Given the description of an element on the screen output the (x, y) to click on. 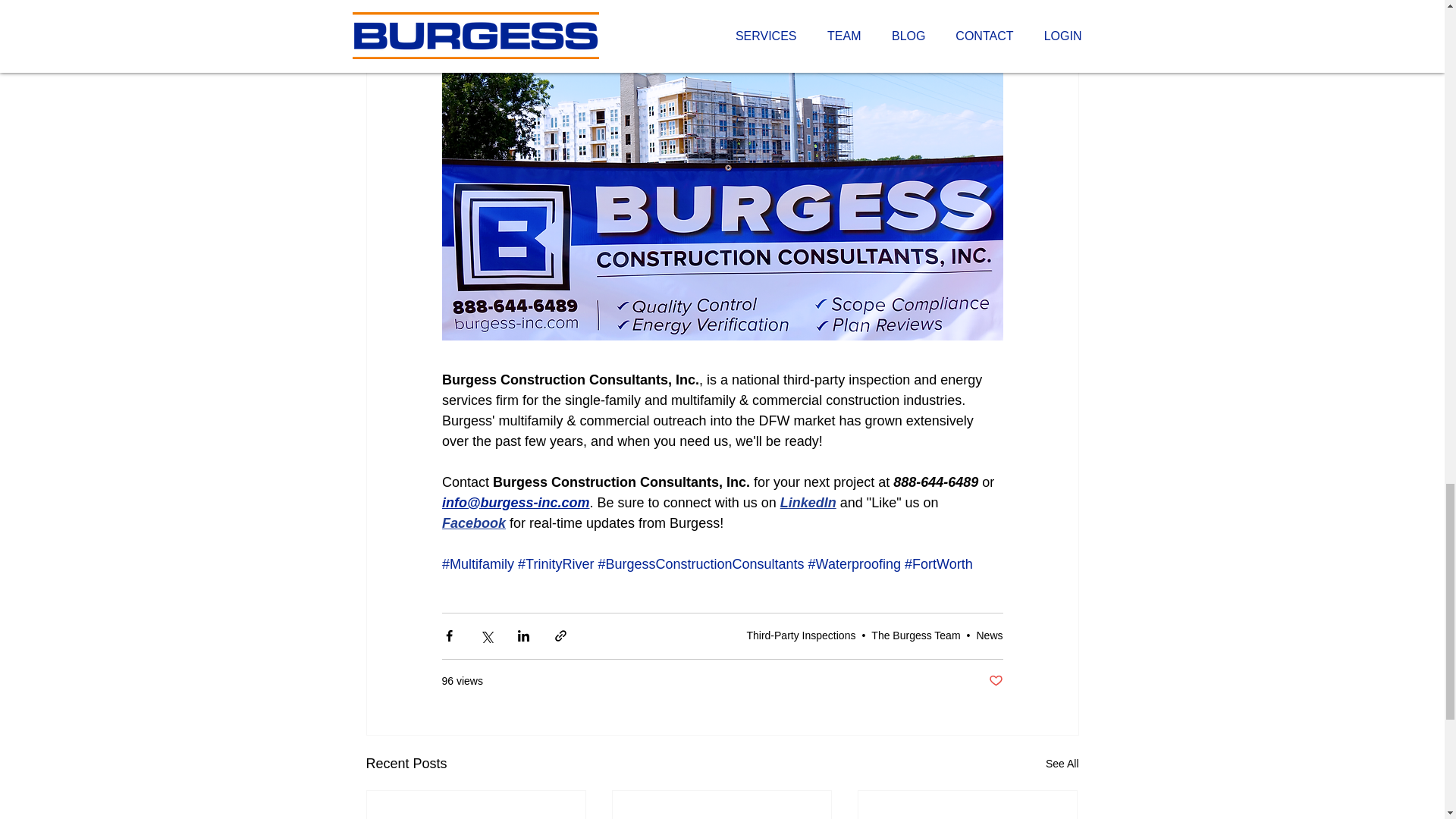
Post not marked as liked (995, 681)
The Burgess Team (914, 635)
Third-Party Inspections (800, 635)
News (989, 635)
See All (1061, 763)
LinkedIn (806, 502)
Facebook (473, 522)
